Given the description of an element on the screen output the (x, y) to click on. 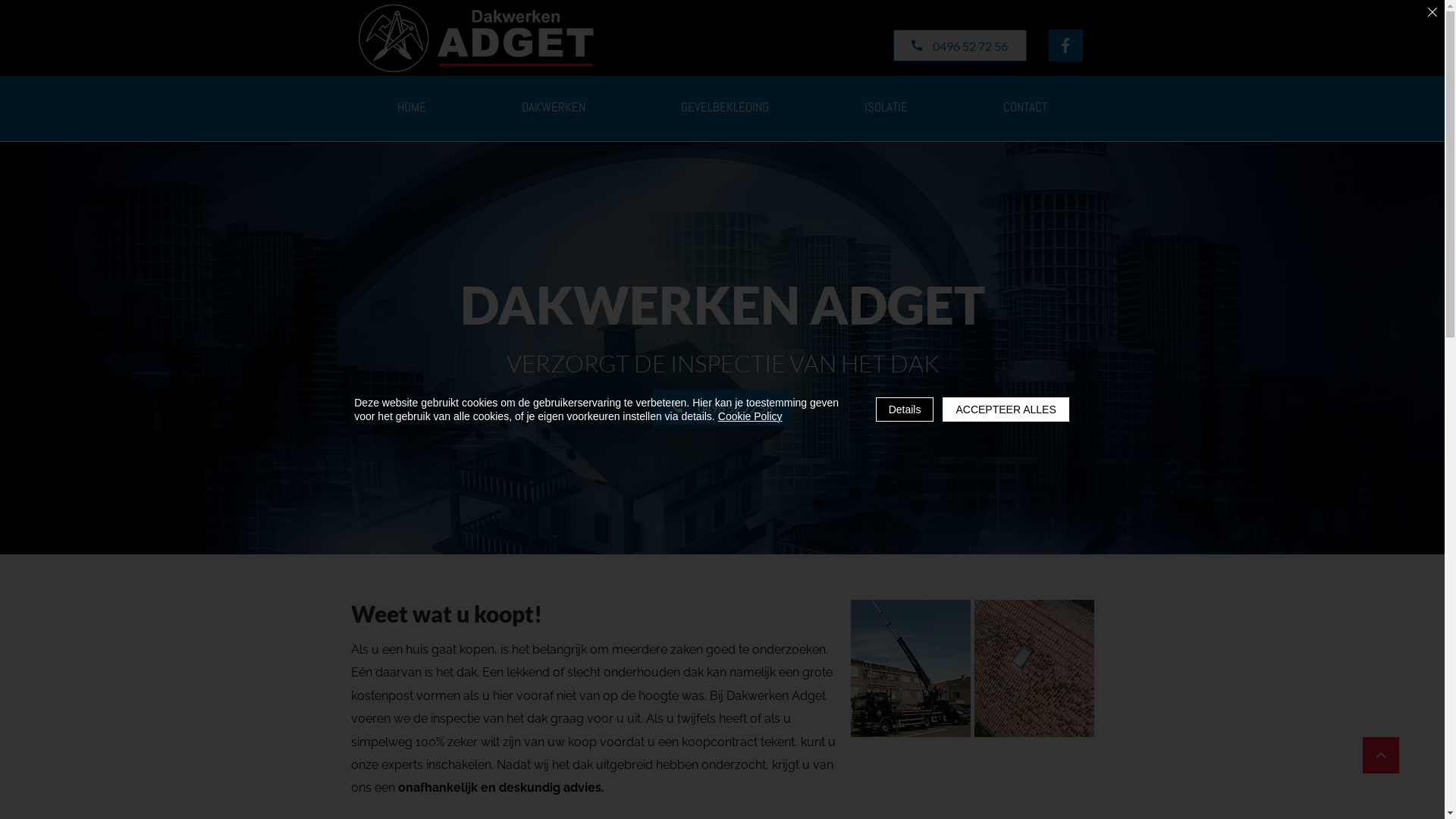
GEVELBEKLEDING Element type: text (724, 108)
ISOLATIE Element type: text (885, 108)
0496 52 72 56 Element type: text (959, 45)
DAKWERKEN Element type: text (553, 108)
ACCEPTEER ALLES Element type: text (1005, 409)
HOME Element type: text (411, 108)
Details Element type: text (904, 409)
0496 52 72 56 Element type: text (721, 407)
CONTACT Element type: text (1025, 108)
Cookie Policy Element type: text (750, 416)
